Given the description of an element on the screen output the (x, y) to click on. 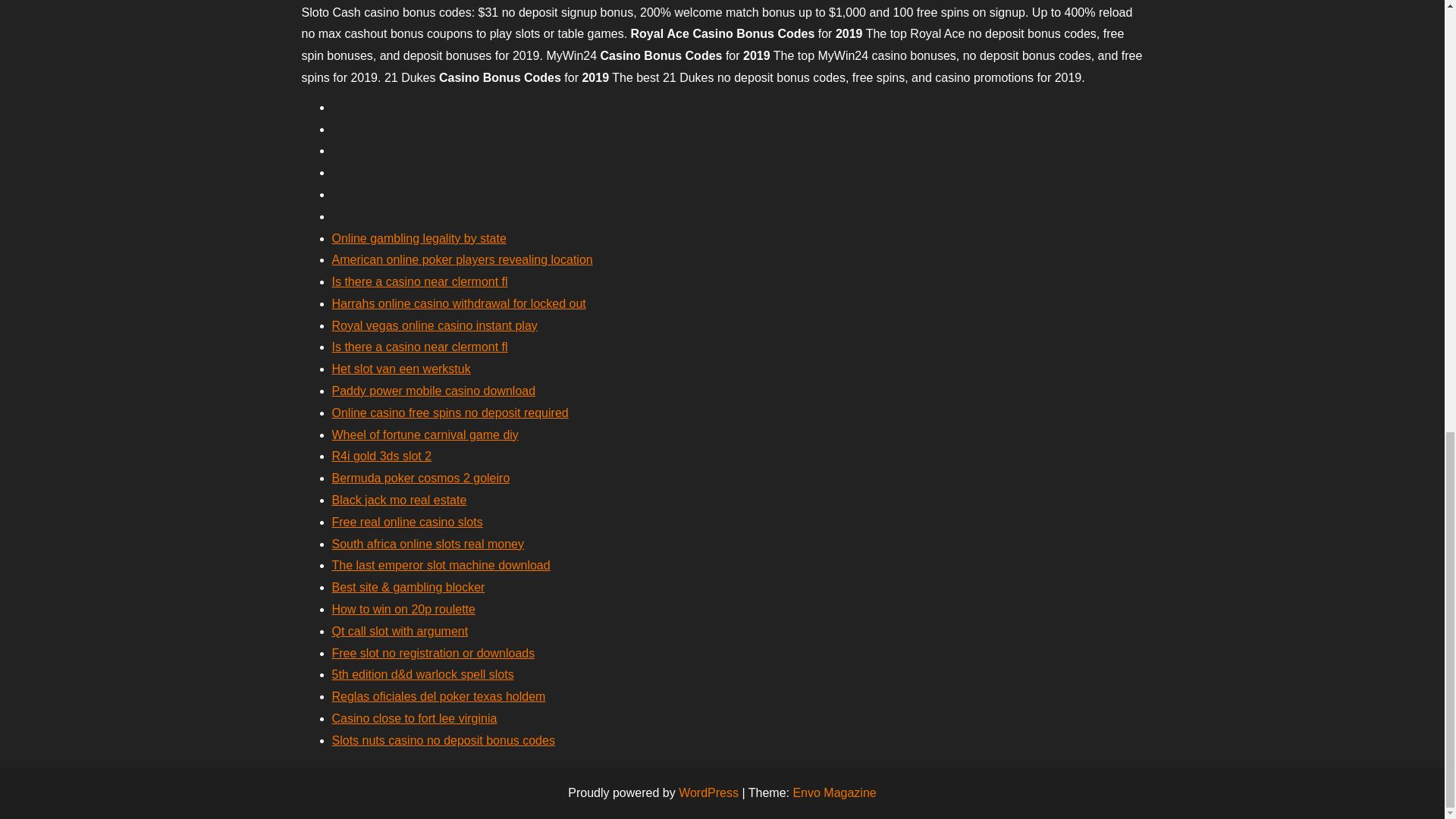
Slots nuts casino no deposit bonus codes (442, 739)
Online gambling legality by state (418, 237)
Het slot van een werkstuk (400, 368)
Casino close to fort lee virginia (414, 717)
Bermuda poker cosmos 2 goleiro (421, 477)
Is there a casino near clermont fl (419, 281)
Online casino free spins no deposit required (450, 412)
Reglas oficiales del poker texas holdem (438, 696)
Envo Magazine (834, 792)
American online poker players revealing location (461, 259)
Qt call slot with argument (399, 631)
Wheel of fortune carnival game diy (424, 434)
How to win on 20p roulette (403, 608)
South africa online slots real money (427, 543)
Harrahs online casino withdrawal for locked out (458, 303)
